Given the description of an element on the screen output the (x, y) to click on. 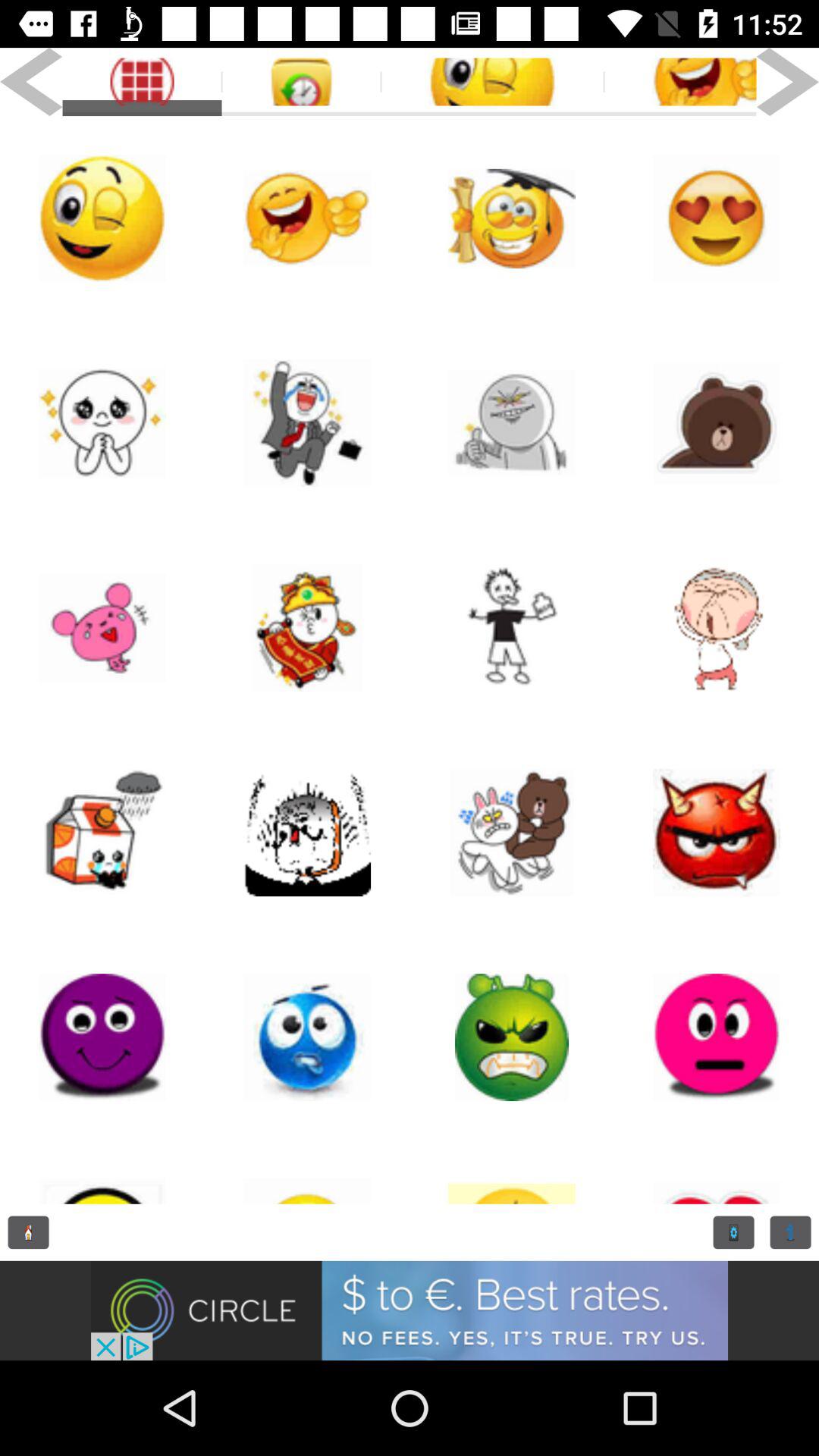
colour picture page (102, 422)
